Given the description of an element on the screen output the (x, y) to click on. 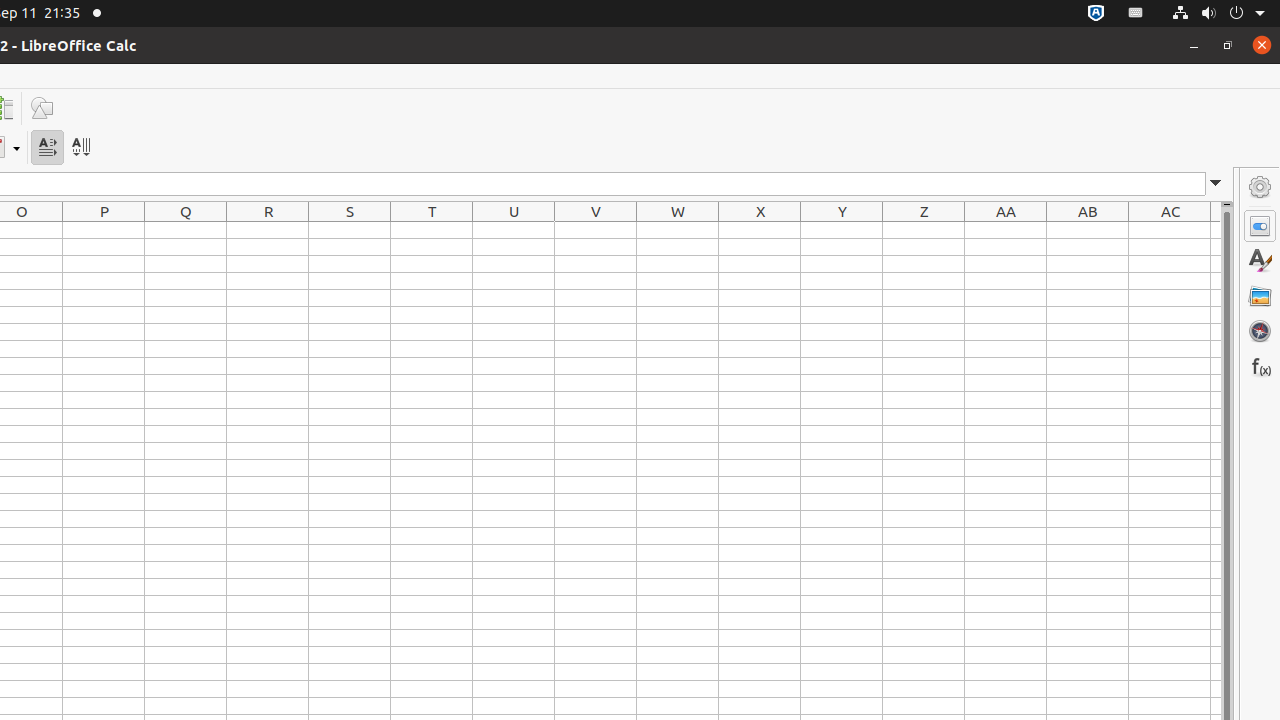
Draw Functions Element type: toggle-button (41, 108)
Expand Formula Bar Element type: push-button (1216, 183)
Q1 Element type: table-cell (186, 230)
Gallery Element type: radio-button (1260, 296)
Text direction from left to right Element type: toggle-button (47, 147)
